Given the description of an element on the screen output the (x, y) to click on. 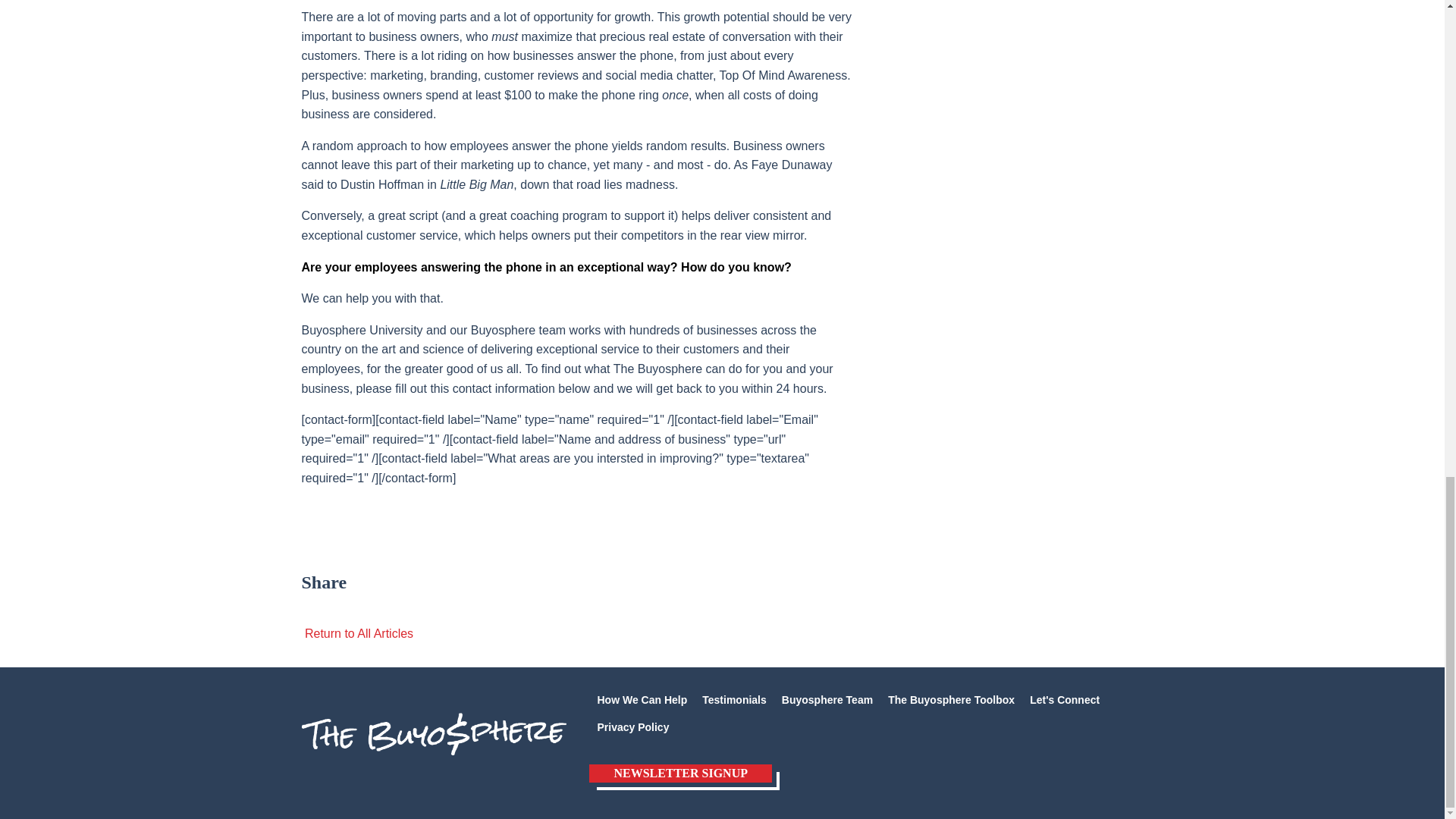
Privacy Policy (633, 727)
The Buyosphere Toolbox (951, 699)
Buyosphere Team (827, 699)
Testimonials (734, 699)
How We Can Help (641, 699)
Let's Connect (1064, 699)
NEWSLETTER SIGNUP (680, 773)
 Return to All Articles (357, 633)
